Given the description of an element on the screen output the (x, y) to click on. 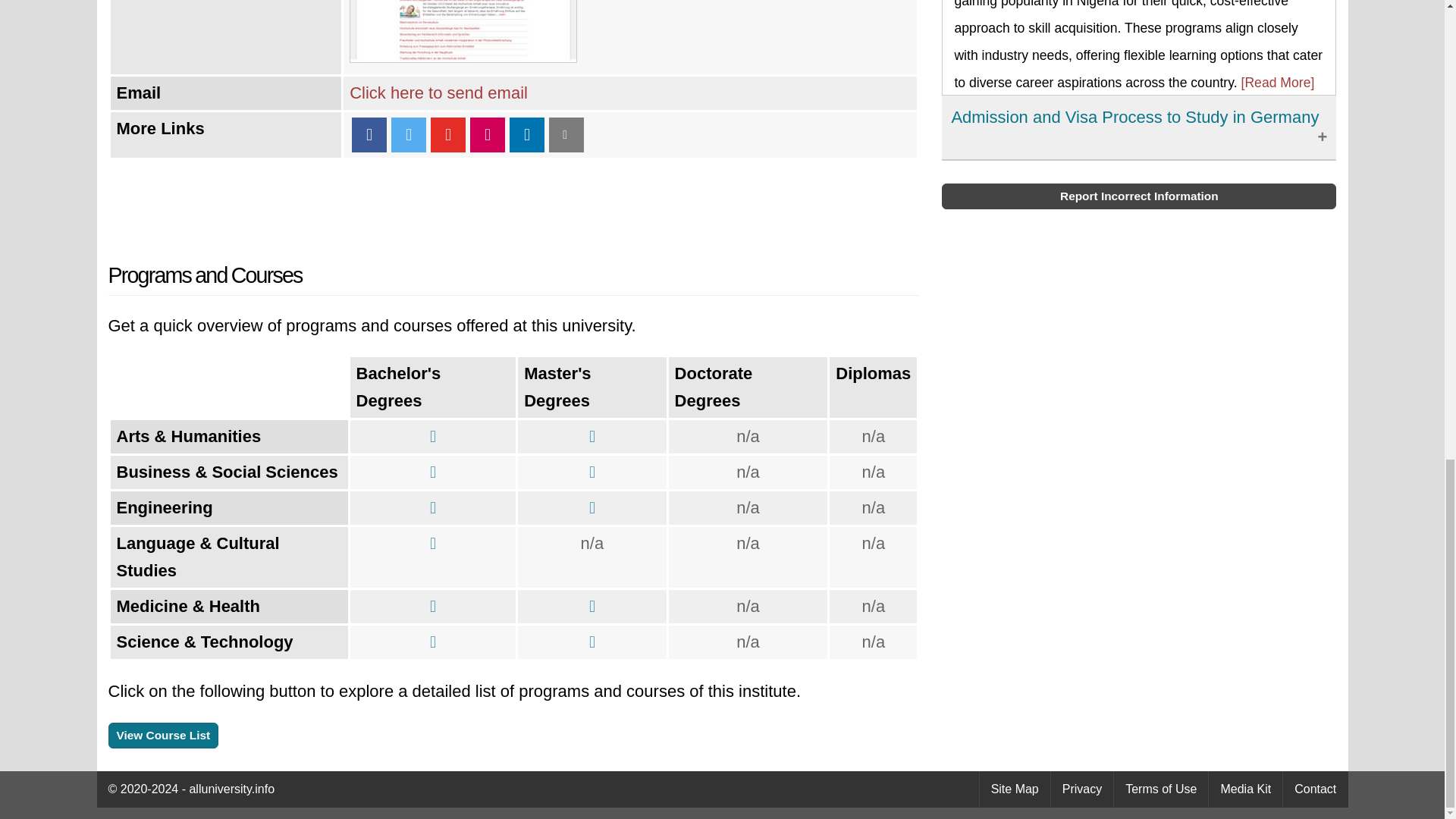
Click here to send email (438, 92)
Report Incorrect Information (1139, 196)
Terms of Use (1160, 789)
Media Kit (1245, 789)
Anhalt University of Applied Sciences Website (462, 56)
Admission and Visa Process to Study in Germany (1139, 126)
Send an email to Anhalt University of Applied Sciences (438, 92)
View Course List (162, 735)
Site Map (1014, 789)
Privacy (1082, 789)
